Given the description of an element on the screen output the (x, y) to click on. 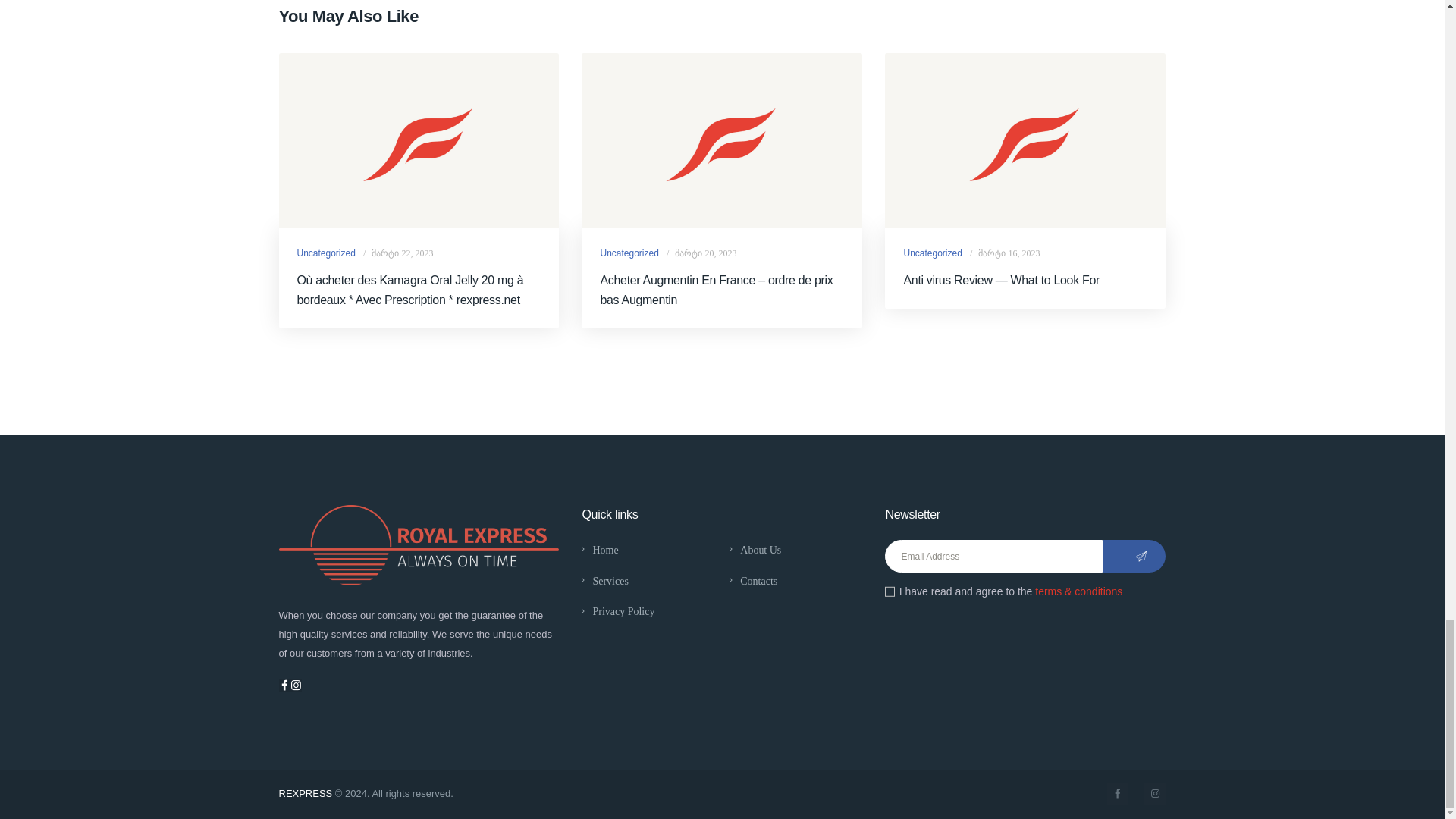
View all posts in Uncategorized (628, 253)
View all posts in Uncategorized (931, 253)
View all posts in Uncategorized (326, 253)
